Given the description of an element on the screen output the (x, y) to click on. 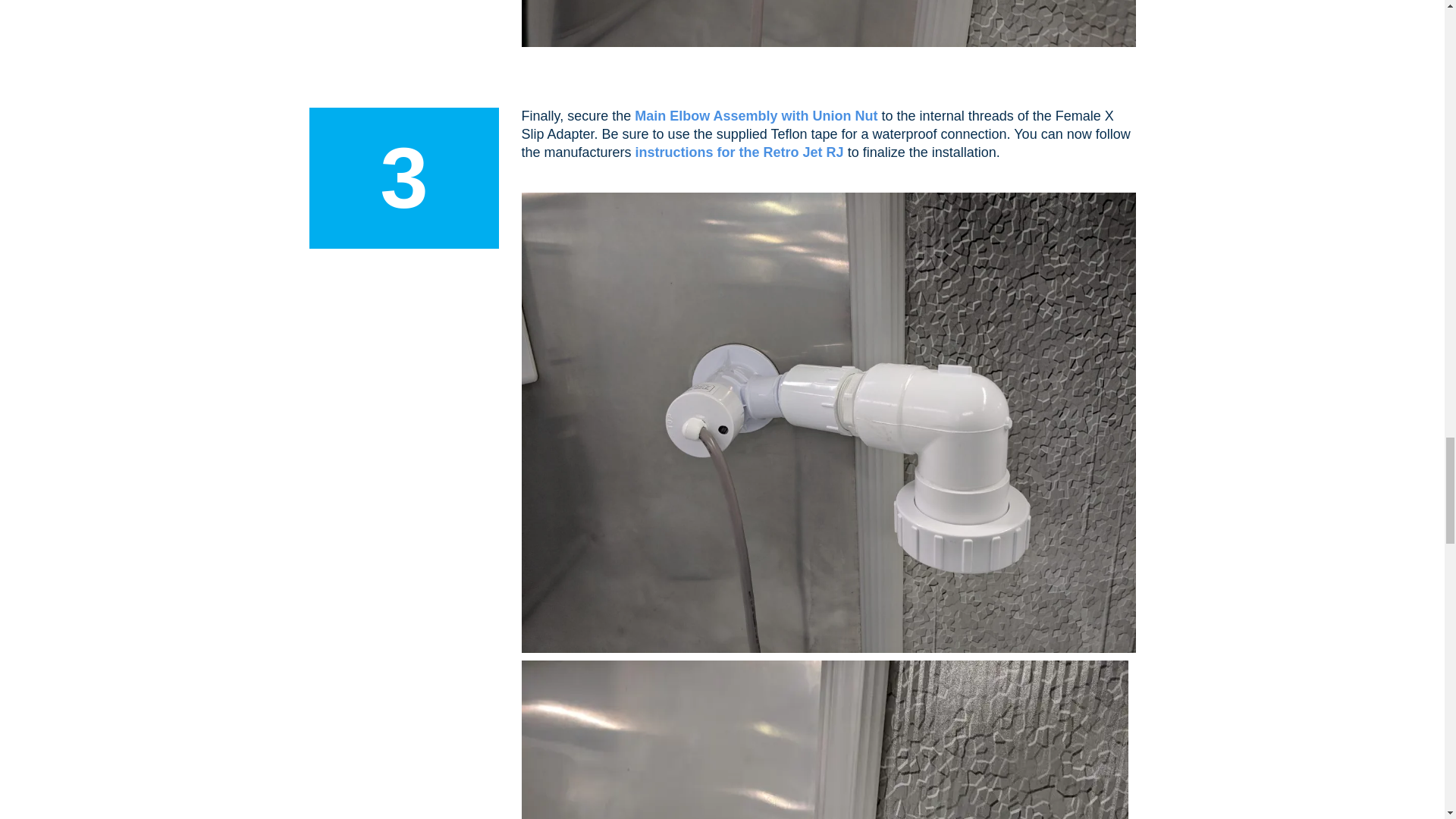
glue the adapter to the Hard Plumbing adapter (828, 23)
follow the manufacturers instructions for the Retro Jet RJ (824, 739)
